Given the description of an element on the screen output the (x, y) to click on. 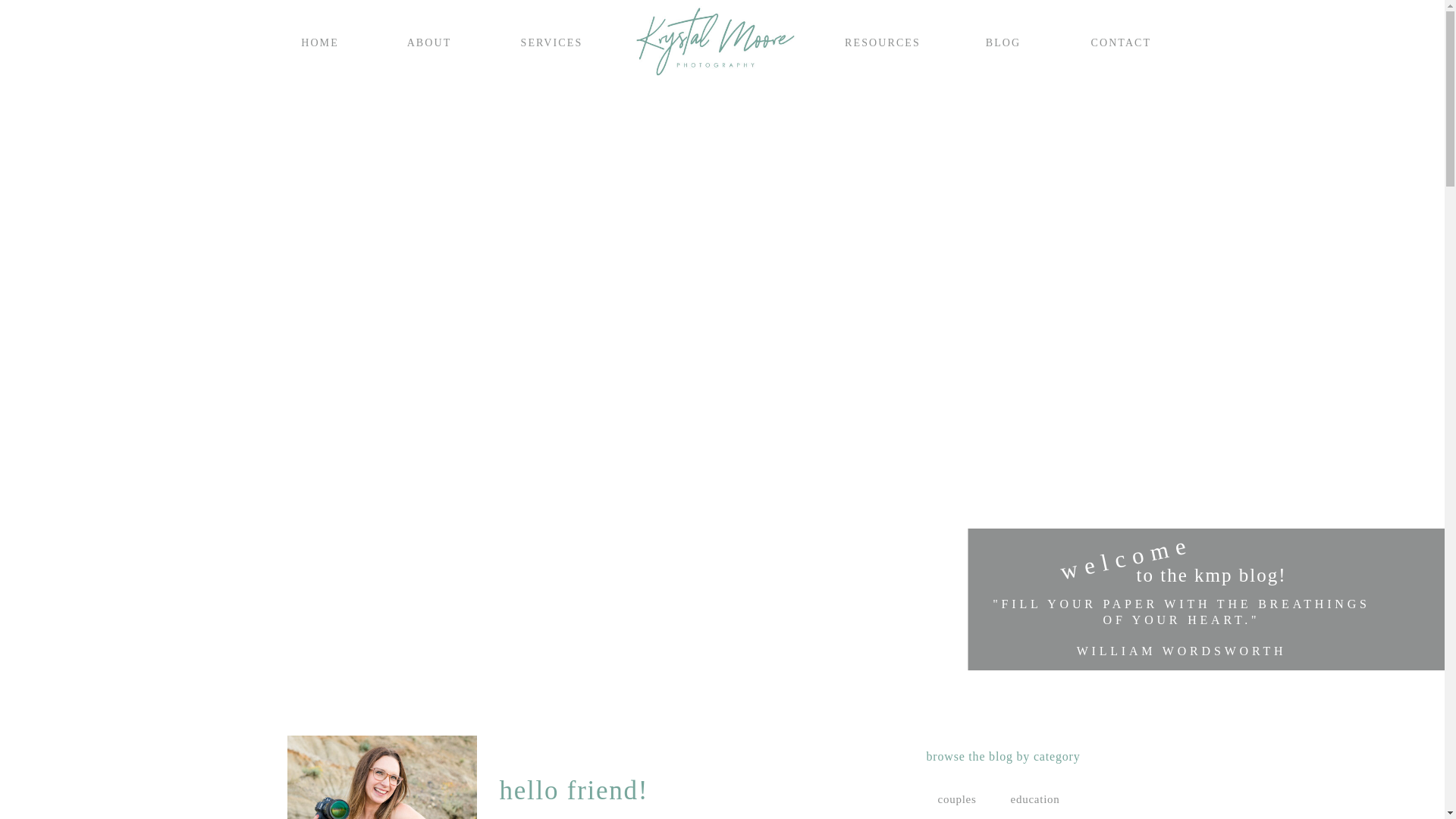
HOME (319, 41)
engagements (949, 817)
ABOUT (429, 41)
SERVICES (549, 41)
CONTACT (1118, 41)
RESOURCES (882, 41)
couples (962, 798)
grad (1092, 817)
family (1030, 817)
BLOG (1003, 41)
